Given the description of an element on the screen output the (x, y) to click on. 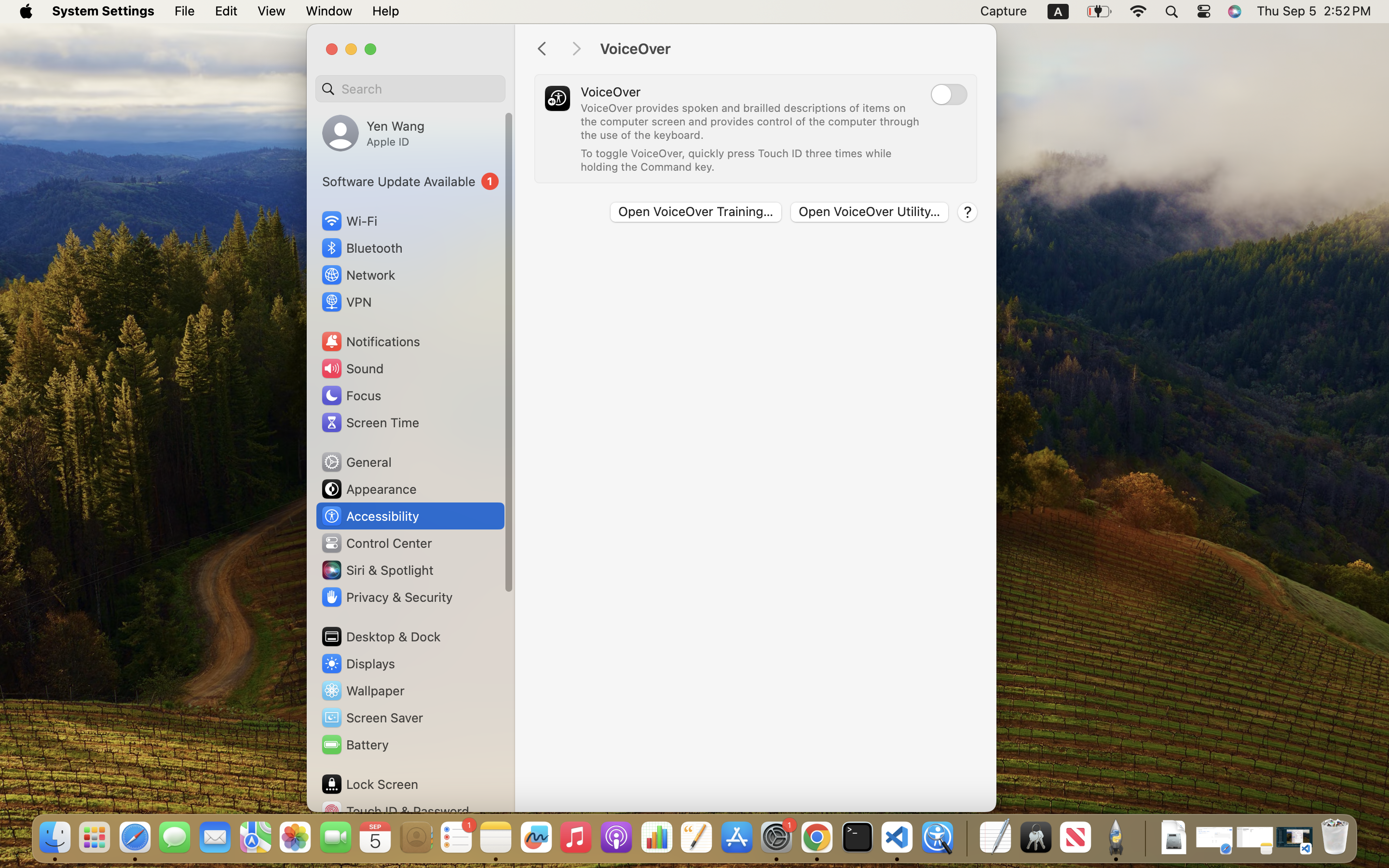
Screen Saver Element type: AXStaticText (371, 717)
VoiceOver provides spoken and brailled descriptions of items on the computer screen and provides control of the computer through the use of the keyboard. Element type: AXStaticText (750, 121)
Wi‑Fi Element type: AXStaticText (348, 220)
VoiceOver Element type: AXStaticText (788, 49)
Accessibility Element type: AXStaticText (369, 515)
